Given the description of an element on the screen output the (x, y) to click on. 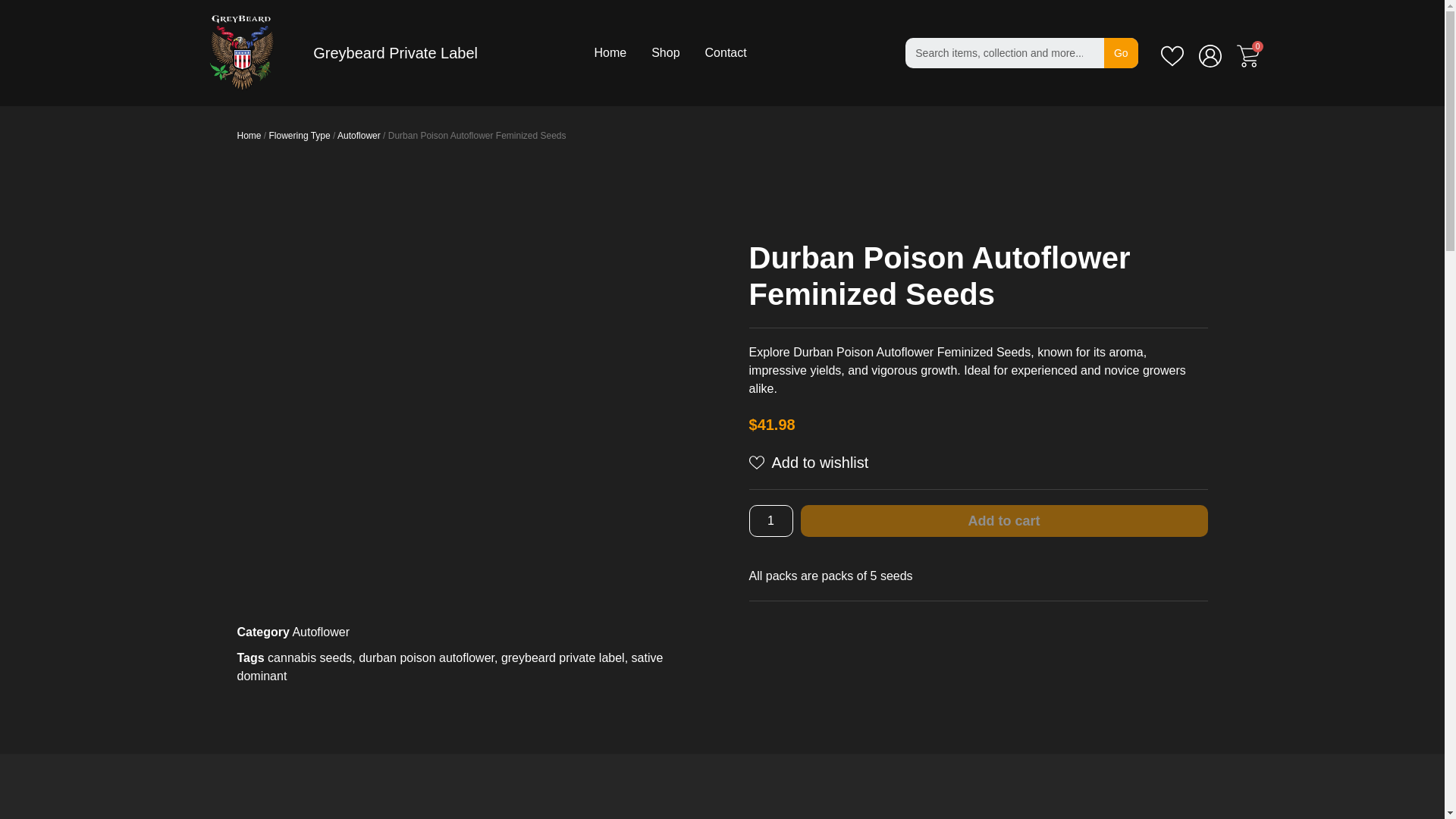
cannabis seeds (309, 657)
Go (1120, 52)
Home (610, 52)
Search (1004, 52)
durban poison autoflower (426, 657)
greybeard private label (562, 657)
Contact (725, 52)
Add to cart (1004, 521)
Autoflower (320, 631)
sative dominant (448, 666)
Home (247, 135)
Search (1120, 52)
Shop (664, 52)
Flowering Type (299, 135)
1 (771, 521)
